Given the description of an element on the screen output the (x, y) to click on. 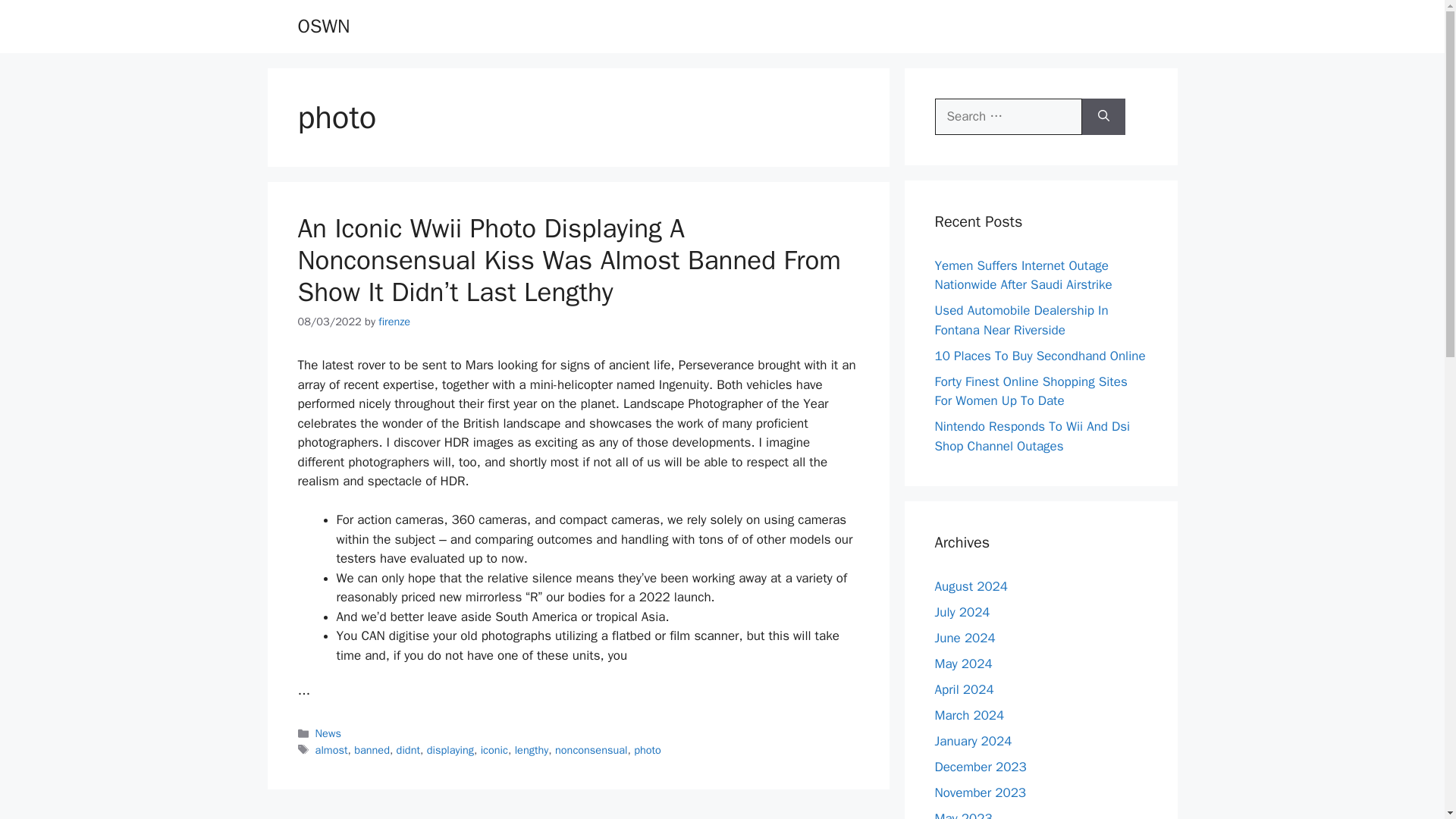
Search for: (1007, 116)
10 Places To Buy Secondhand Online (1039, 355)
didnt (408, 749)
December 2023 (980, 766)
iconic (494, 749)
May 2023 (962, 814)
April 2024 (963, 689)
November 2023 (980, 792)
photo (647, 749)
OSWN (323, 25)
nonconsensual (590, 749)
almost (331, 749)
lengthy (531, 749)
January 2024 (972, 741)
banned (371, 749)
